Given the description of an element on the screen output the (x, y) to click on. 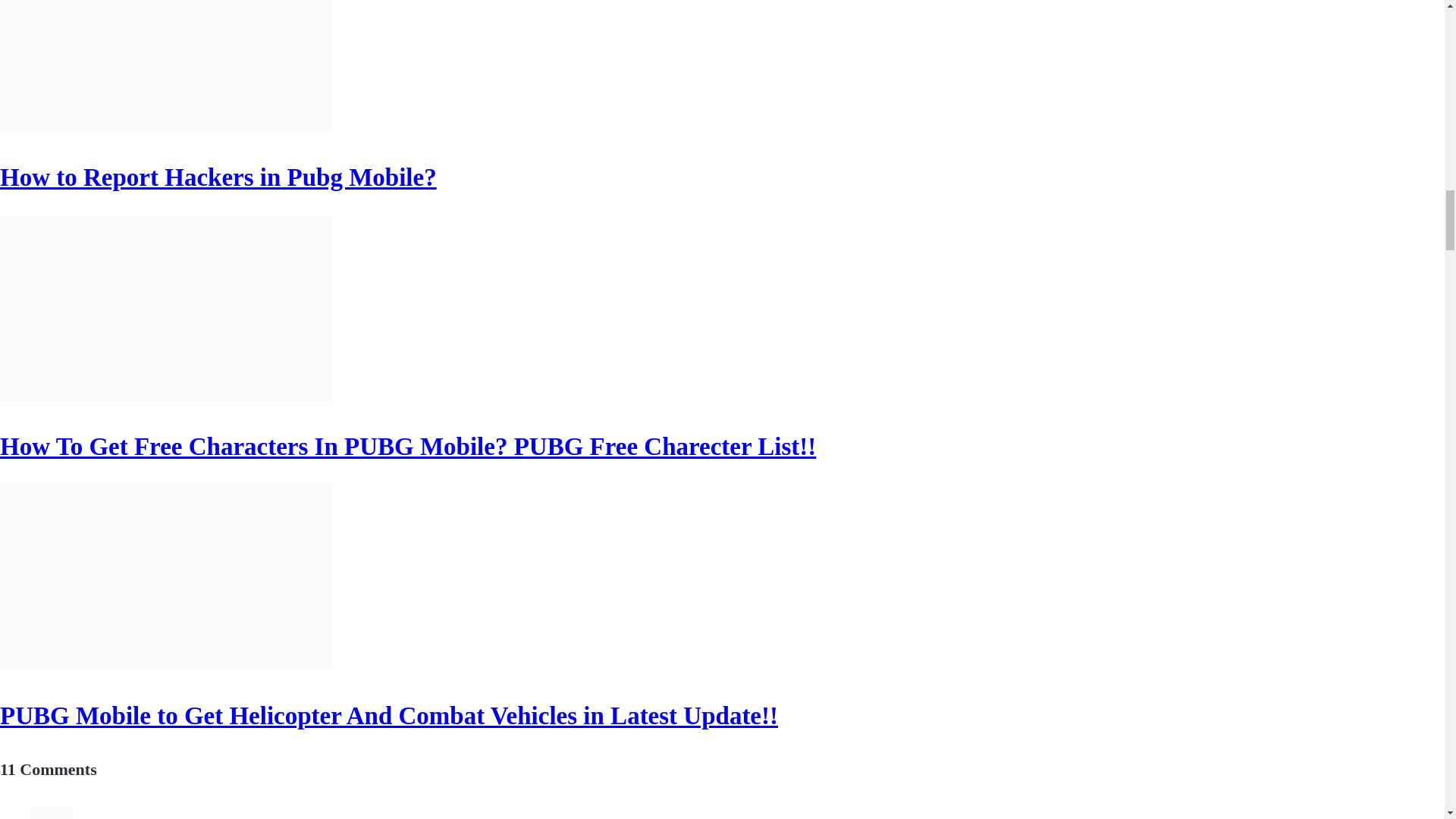
How to Report Hackers in Pubg Mobile? (218, 176)
How to Report Hackers in Pubg Mobile? (218, 176)
